Given the description of an element on the screen output the (x, y) to click on. 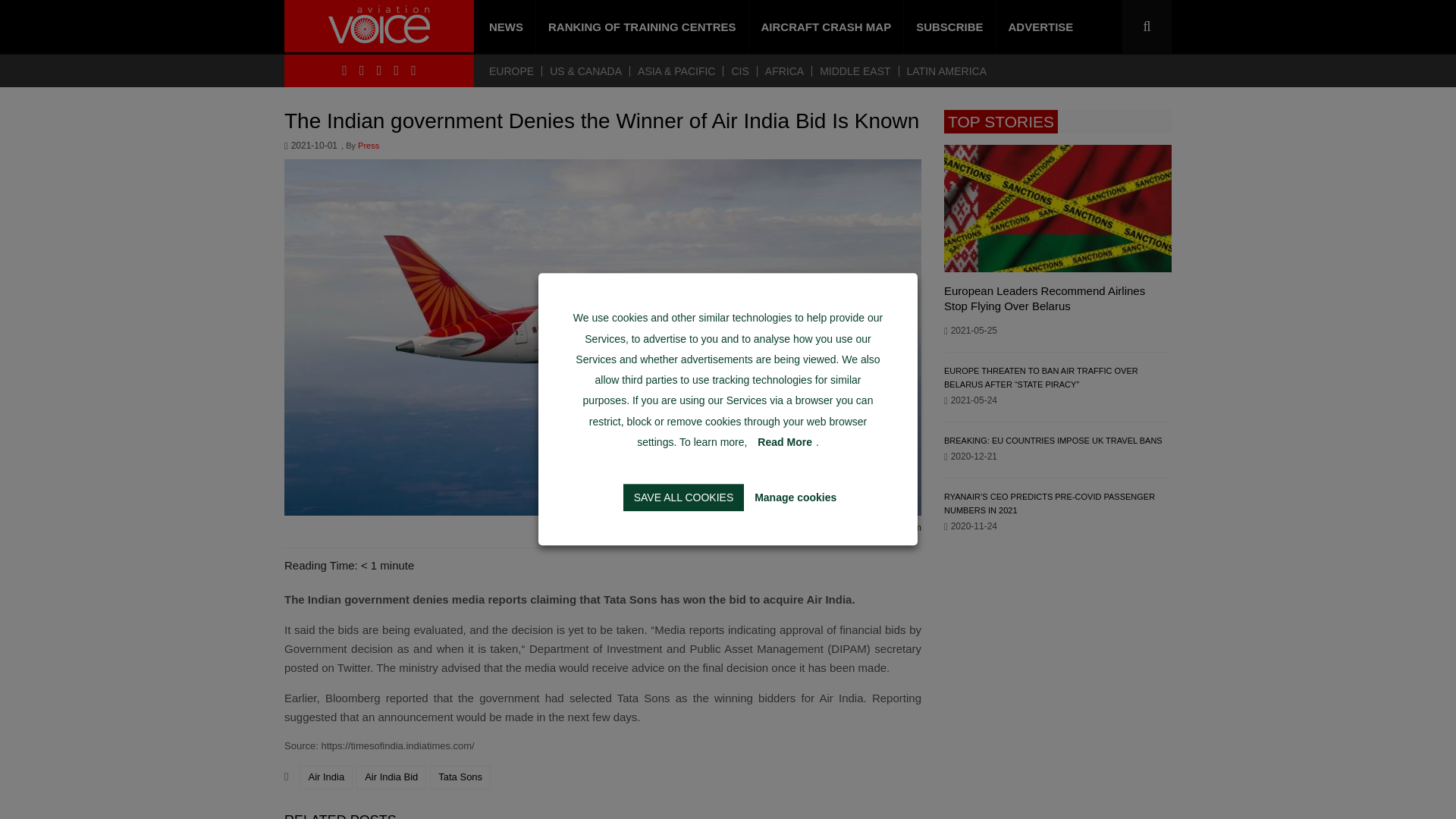
SUBSCRIBE (949, 26)
AFRICA (783, 71)
NEWS (506, 26)
EUROPE (515, 71)
ADVERTISE (1040, 26)
RANKING OF TRAINING CENTRES (641, 26)
CIS (738, 71)
LATIN AMERICA (946, 71)
MIDDLE EAST (854, 71)
Air India (325, 776)
AIRCRAFT CRASH MAP (826, 26)
Press (368, 145)
